Given the description of an element on the screen output the (x, y) to click on. 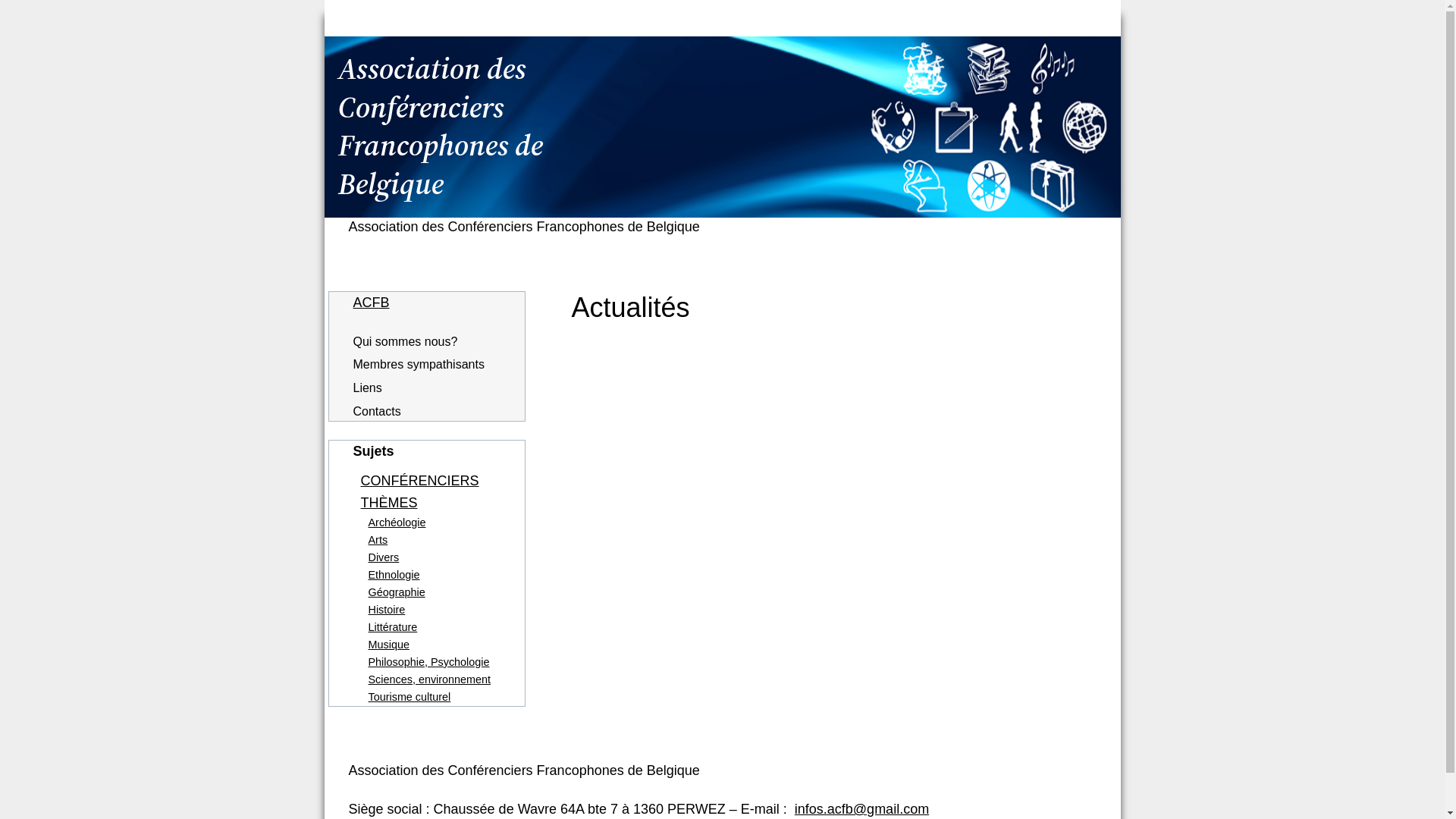
Tourisme culturel Element type: text (409, 696)
Qui sommes nous? Element type: text (405, 341)
Contacts Element type: text (377, 411)
Divers Element type: text (383, 557)
Liens Element type: text (367, 388)
Membres sympathisants Element type: text (418, 364)
ACFB Element type: text (371, 302)
Musique Element type: text (388, 644)
Arts Element type: text (378, 539)
infos.acfb@gmail.com Element type: text (861, 808)
Sciences, environnement Element type: text (429, 679)
Ethnologie Element type: text (394, 574)
Histoire Element type: text (386, 609)
Philosophie, Psychologie Element type: text (428, 661)
